Given the description of an element on the screen output the (x, y) to click on. 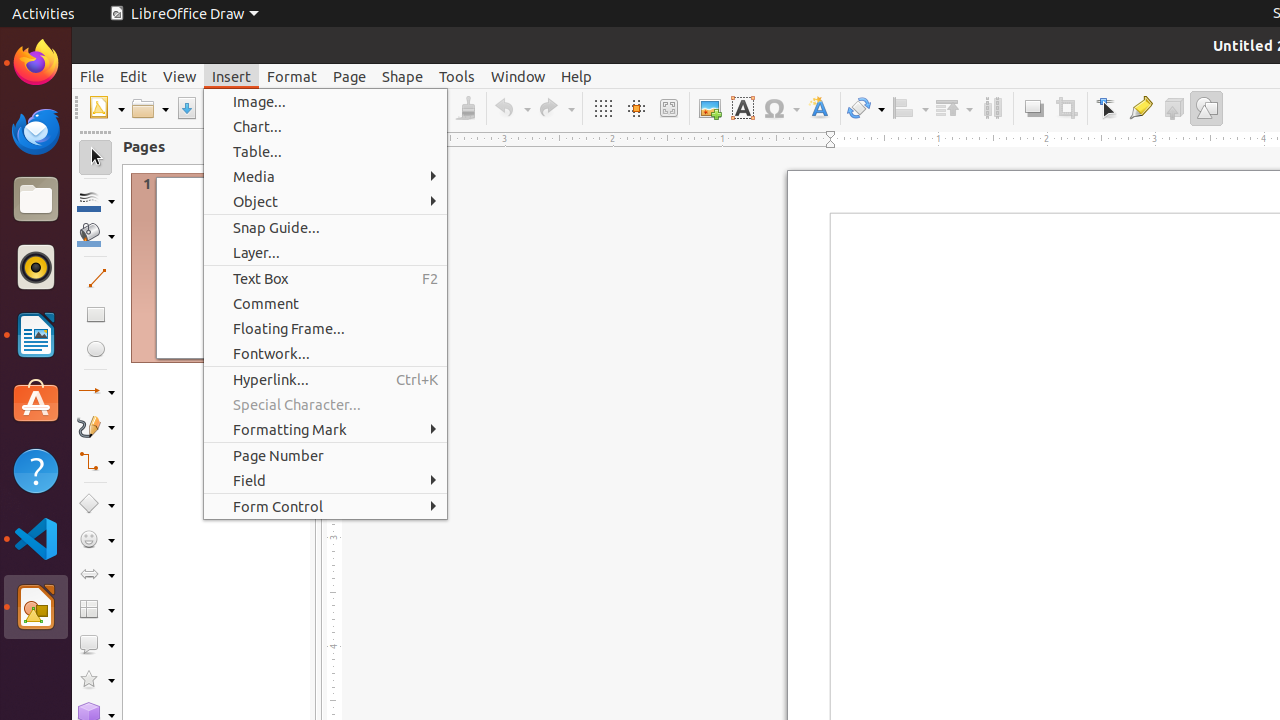
Fontwork Style Element type: toggle-button (819, 108)
Callout Shapes Element type: push-button (96, 644)
Form Control Element type: menu (325, 506)
Clone Element type: push-button (465, 108)
Symbol Element type: push-button (781, 108)
